Given the description of an element on the screen output the (x, y) to click on. 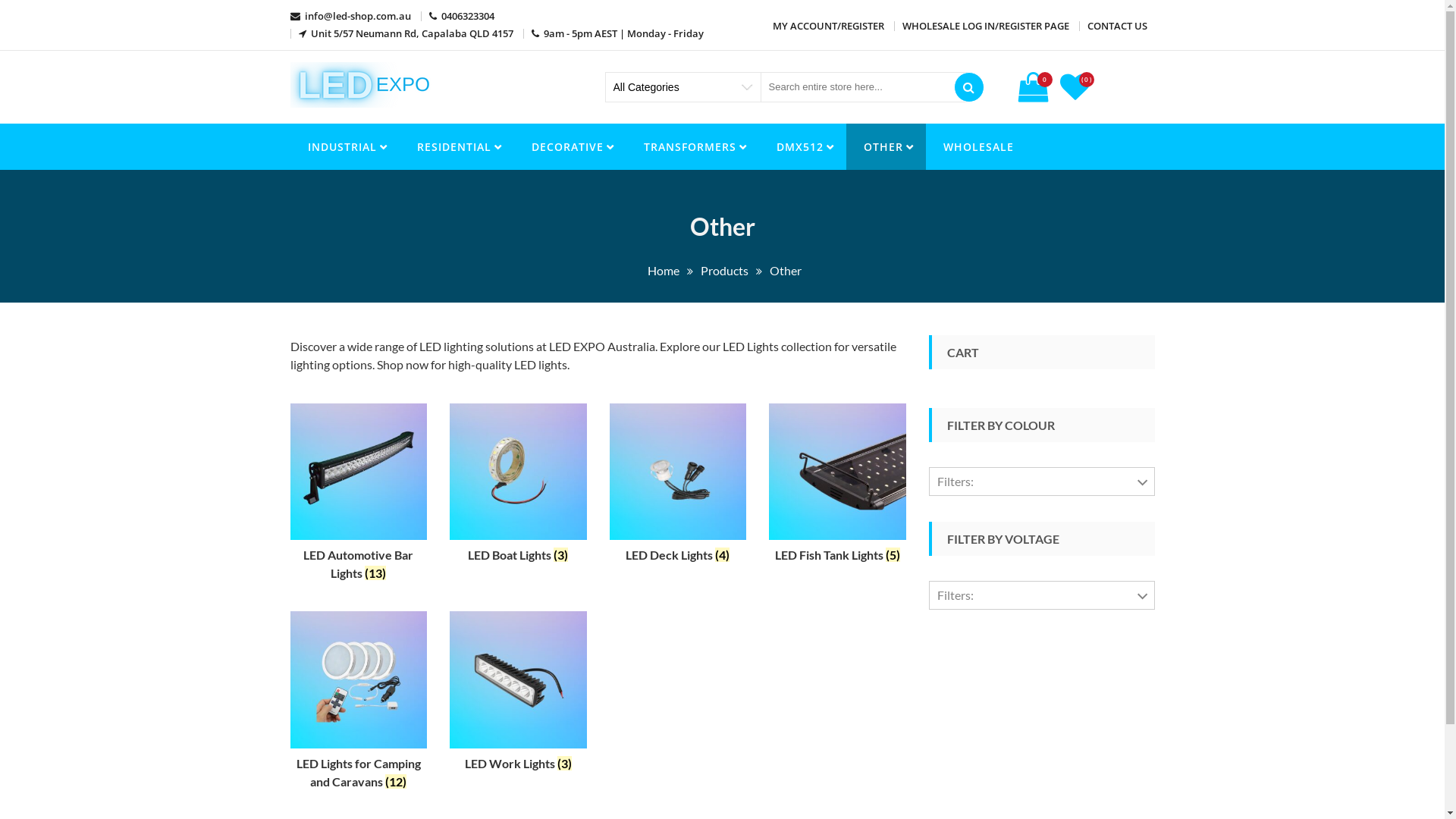
Home Element type: text (663, 270)
Pink 1 Element type: text (966, 644)
TRANSFORMERS Element type: text (692, 146)
INDUSTRIAL Element type: text (343, 146)
Filters: Element type: text (1041, 481)
DMX512 Element type: text (801, 146)
Search Element type: hover (968, 87)
Products Element type: text (724, 270)
LED Lights for Camping and Caravans (12) Element type: text (357, 704)
LED Boat Lights (3) Element type: text (517, 487)
Filters: Element type: text (1041, 594)
Blue 4 Element type: text (966, 517)
LED Automotive Bar Lights (13) Element type: text (357, 496)
RESIDENTIAL Element type: text (455, 146)
12VDC 7 Element type: text (974, 630)
CONTACT US Element type: text (1117, 25)
( 0 ) Element type: text (1077, 92)
LED EXPO Australia Element type: text (405, 123)
Cool White (6000-6500K) 8 Element type: text (1023, 548)
WHOLESALE Element type: text (977, 146)
DECORATIVE Element type: text (570, 146)
OTHER Element type: text (885, 146)
24VDC 4 Element type: text (974, 662)
  info@led-shop.com.au Element type: text (349, 15)
Red 1 Element type: text (965, 676)
WHOLESALE LOG IN/REGISTER PAGE Element type: text (985, 25)
0 Element type: text (1034, 87)
Warm White (3000-3500K) 7 Element type: text (1027, 708)
LED Deck Lights (4) Element type: text (677, 487)
Yellow 1 Element type: text (972, 740)
MY ACCOUNT/REGISTER Element type: text (827, 25)
  Unit 5/57 Neumann Rd, Capalaba QLD 4157 Element type: text (405, 33)
Green 1 Element type: text (971, 580)
LED Fish Tank Lights (5) Element type: text (837, 487)
Orange ( Amber ) 1 Element type: text (999, 612)
LED Work Lights (3) Element type: text (517, 694)
